Given the description of an element on the screen output the (x, y) to click on. 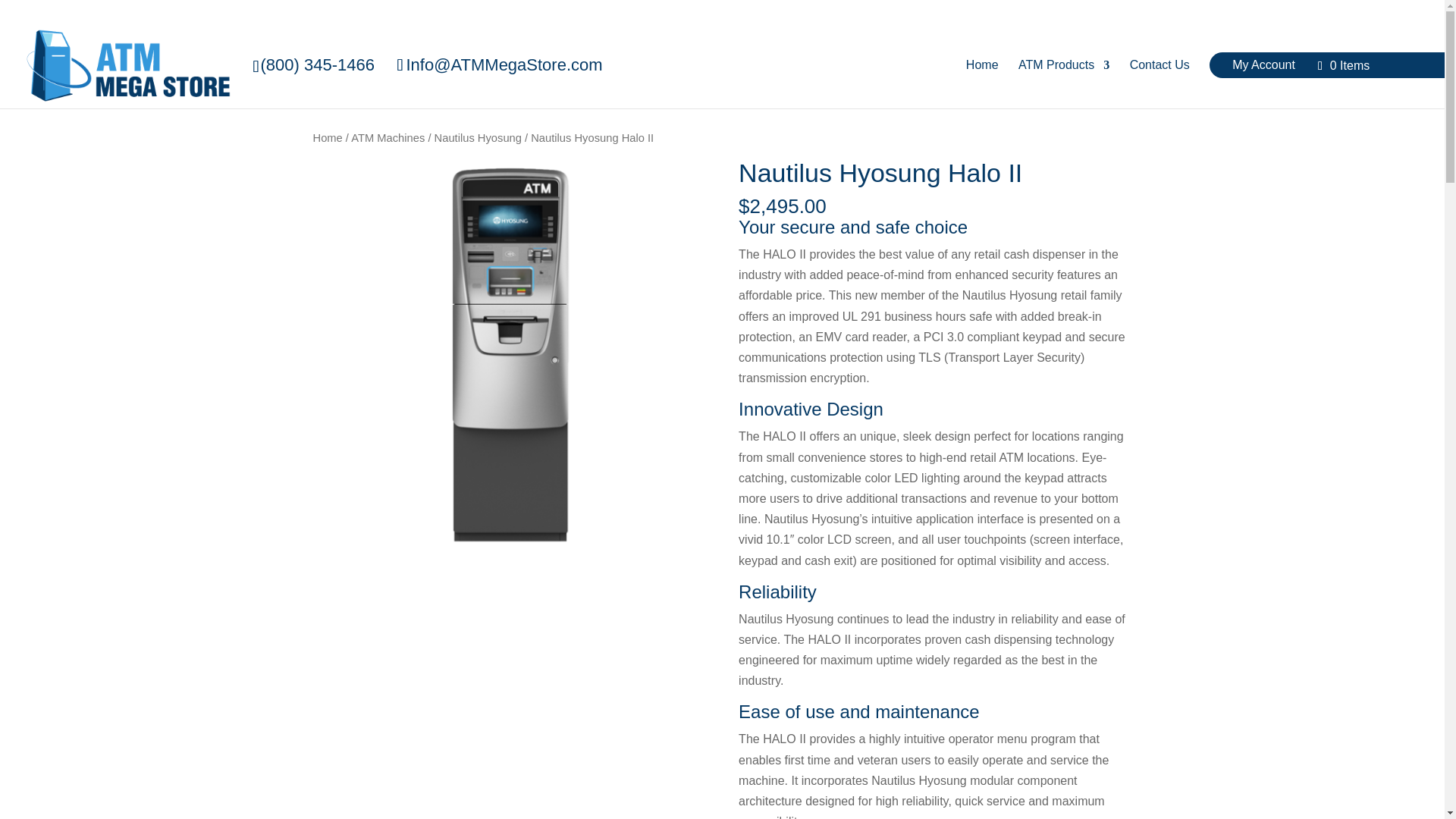
Contact Us (1159, 64)
0 Items (1343, 65)
My Account (1263, 64)
ATM Machines (387, 137)
Home (982, 64)
Home (327, 137)
ATM Products (1063, 64)
Nautilus Hyosung (477, 137)
